Given the description of an element on the screen output the (x, y) to click on. 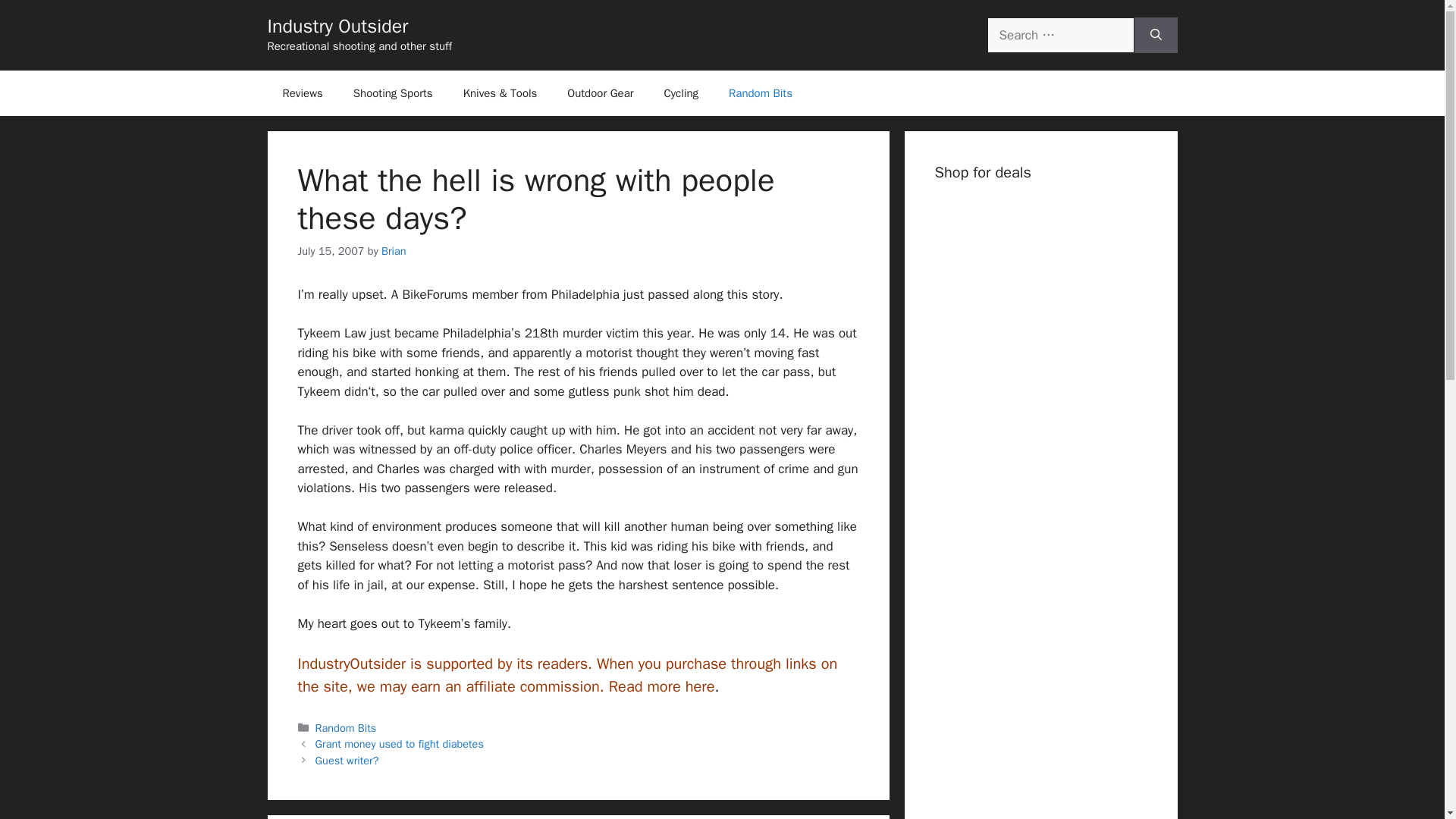
Cycling (681, 92)
Search for: (1060, 34)
Shooting Sports (392, 92)
Grant money used to fight diabetes (399, 744)
Read more here (661, 686)
Random Bits (346, 727)
Outdoor Gear (599, 92)
View all posts by Brian (393, 250)
Industry Outsider (336, 25)
Guest writer? (346, 760)
